Given the description of an element on the screen output the (x, y) to click on. 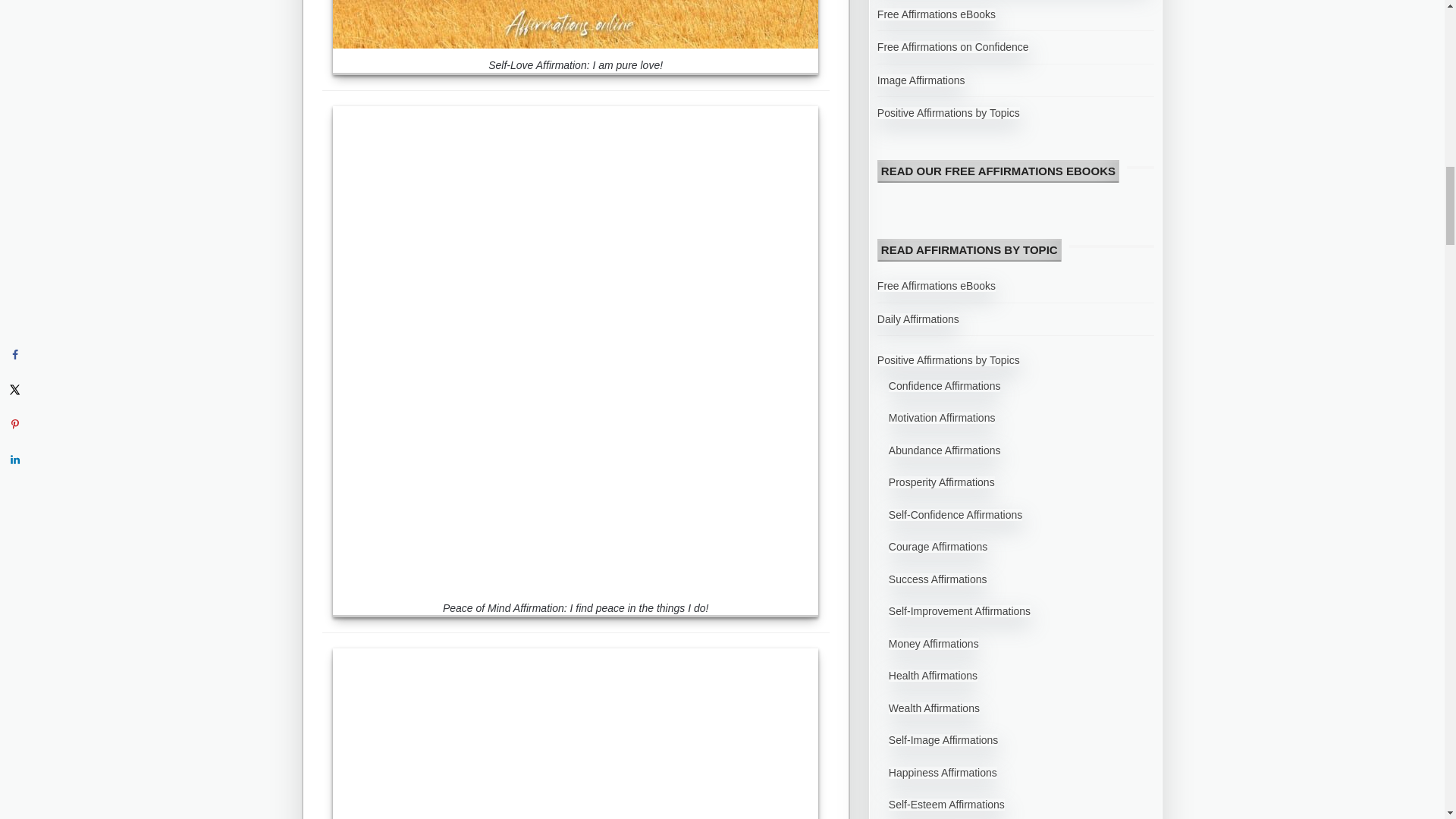
I am peace! I am pure love! (575, 733)
I am pure love! (575, 24)
